Given the description of an element on the screen output the (x, y) to click on. 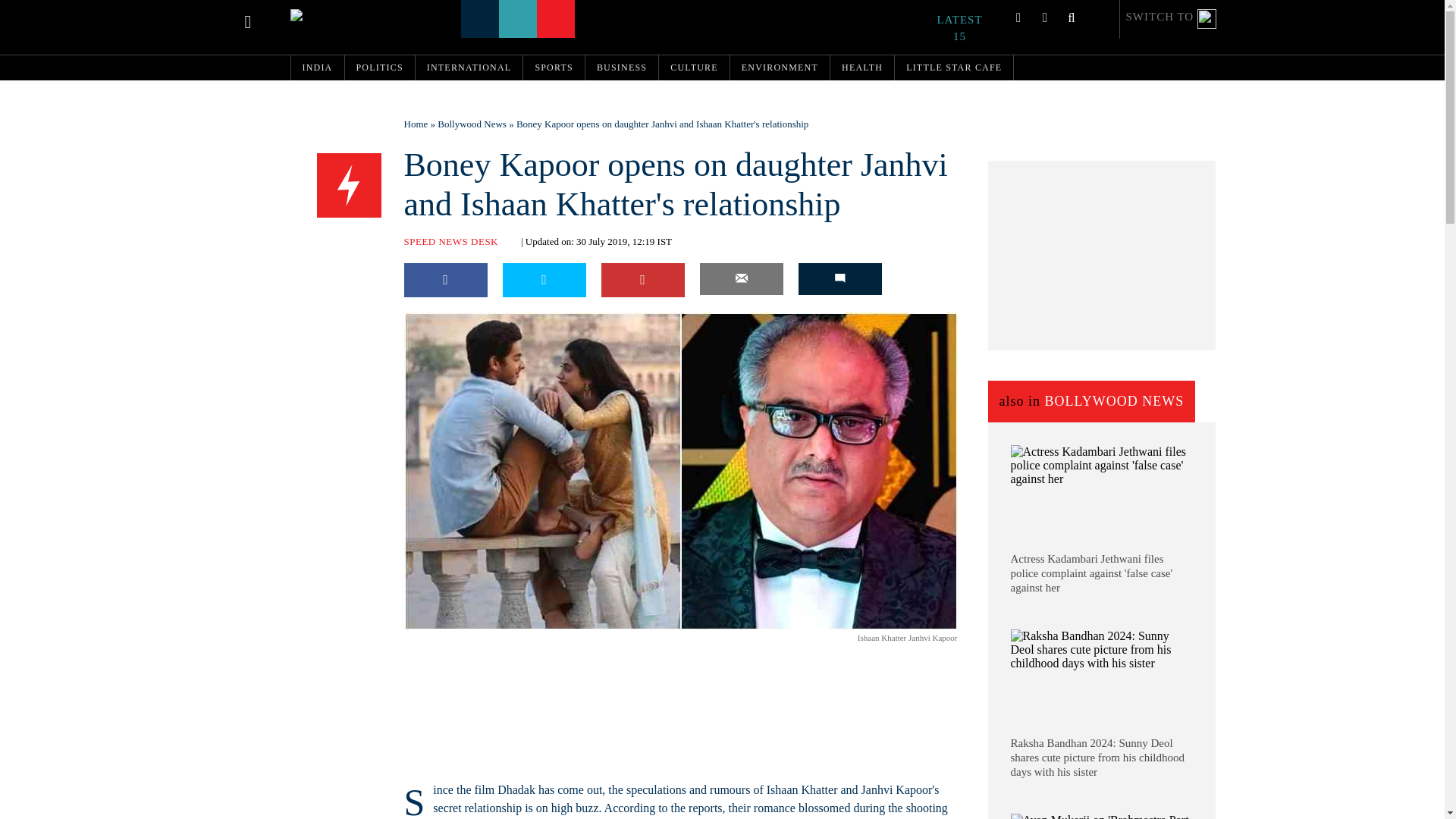
Catch News (325, 15)
LATEST 15 (968, 28)
Twitter Follow Button (501, 640)
fb:like Facebook Social Plugin (422, 640)
SPEED NEWS (349, 185)
